Given the description of an element on the screen output the (x, y) to click on. 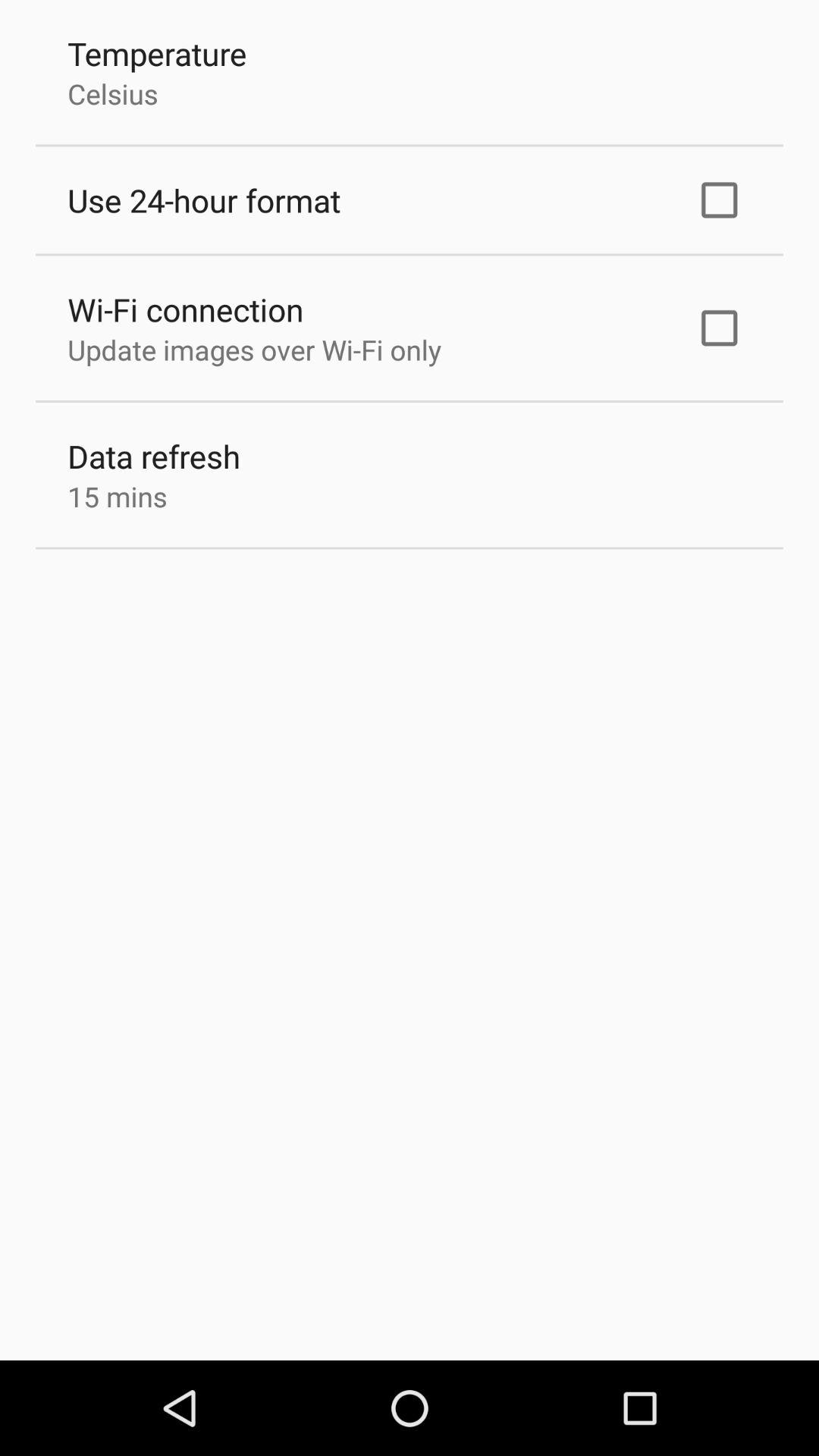
flip until data refresh item (153, 455)
